Given the description of an element on the screen output the (x, y) to click on. 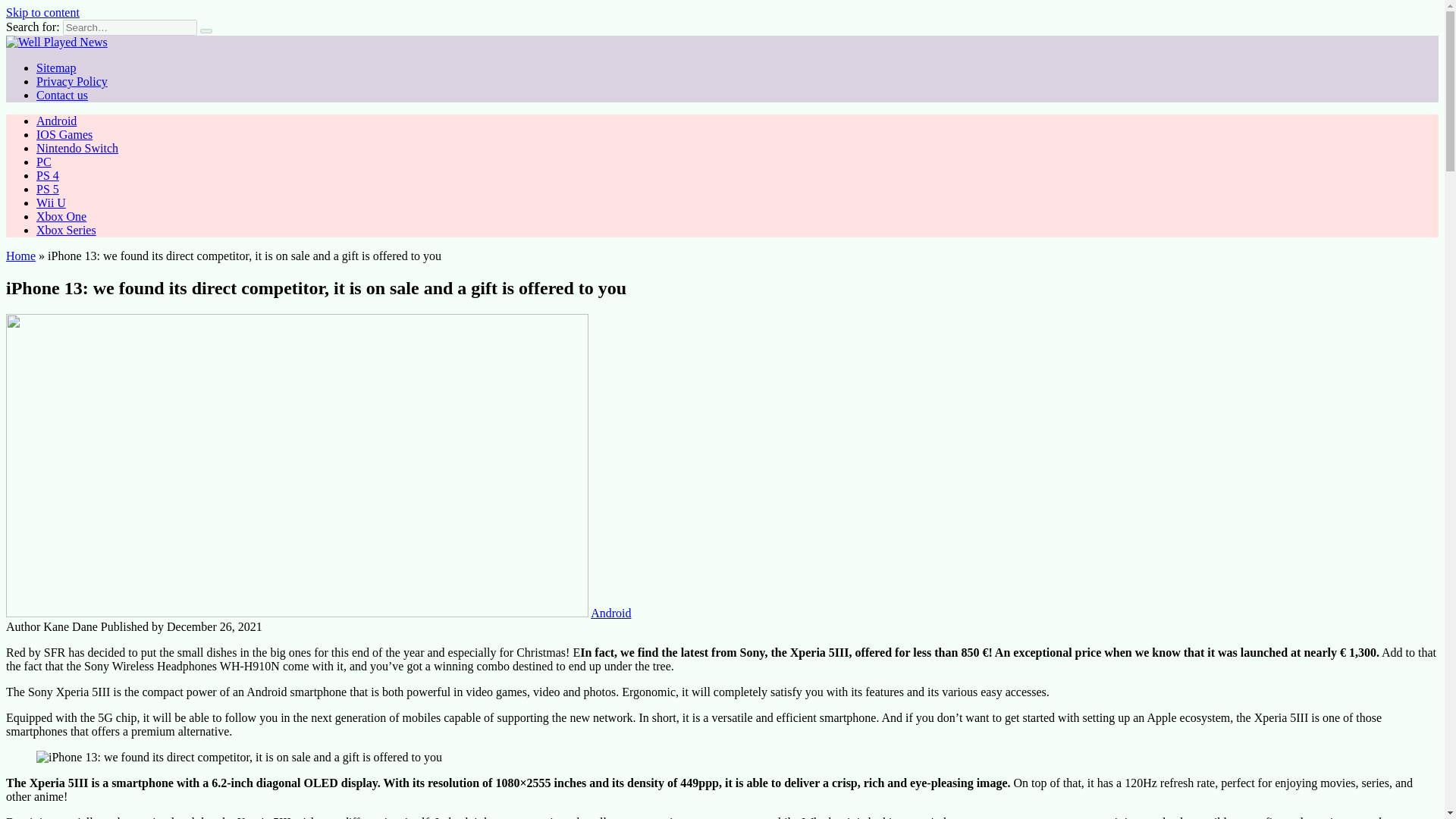
PS 4 (47, 174)
Contact us (61, 94)
Xbox Series (66, 229)
Skip to content (42, 11)
Nintendo Switch (76, 147)
Android (610, 612)
Home (19, 255)
Android (56, 120)
Wii U (50, 202)
Sitemap (55, 67)
IOS Games (64, 133)
PS 5 (47, 188)
Xbox One (60, 215)
PC (43, 161)
